Given the description of an element on the screen output the (x, y) to click on. 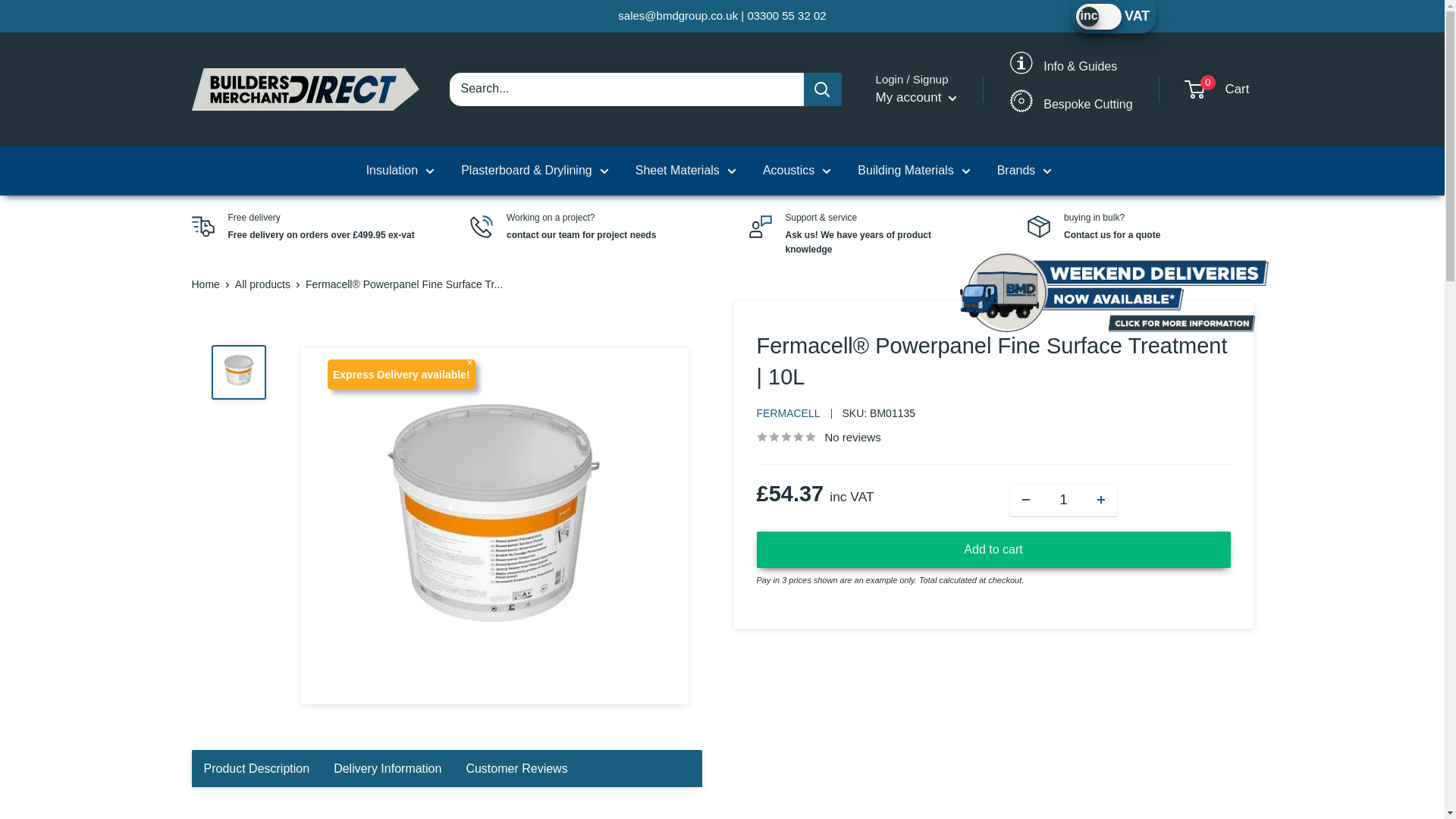
Increase quantity by 1 (1100, 499)
1 (1063, 499)
Decrease quantity by 1 (1026, 499)
Bespoke Cutting (1071, 114)
